Given the description of an element on the screen output the (x, y) to click on. 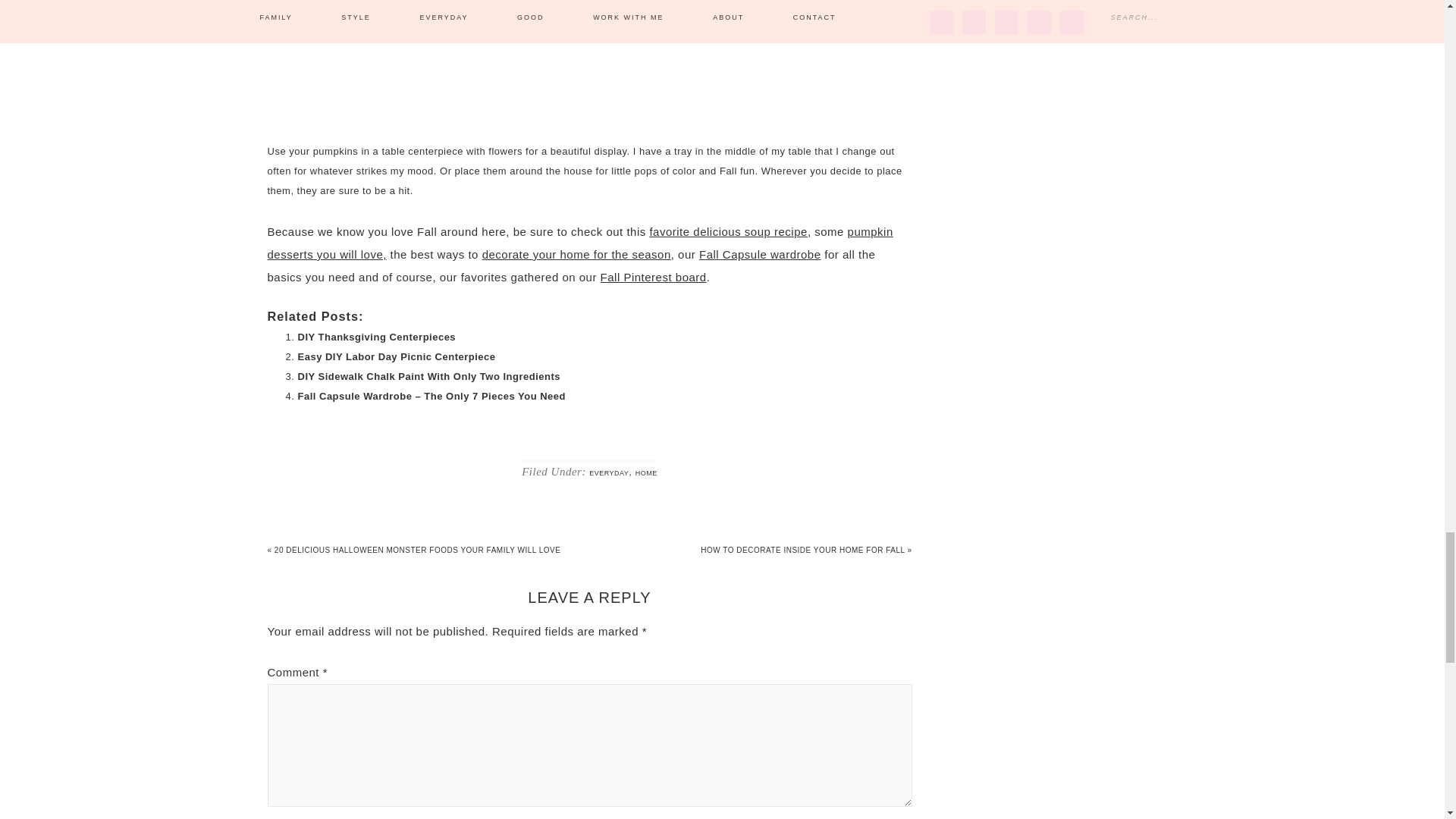
DIY Thanksgiving Centerpieces (376, 337)
Easy DIY Labor Day Picnic Centerpiece (396, 356)
DIY Sidewalk Chalk Paint With Only Two Ingredients (428, 376)
favorite delicious soup recipe (727, 231)
